Given the description of an element on the screen output the (x, y) to click on. 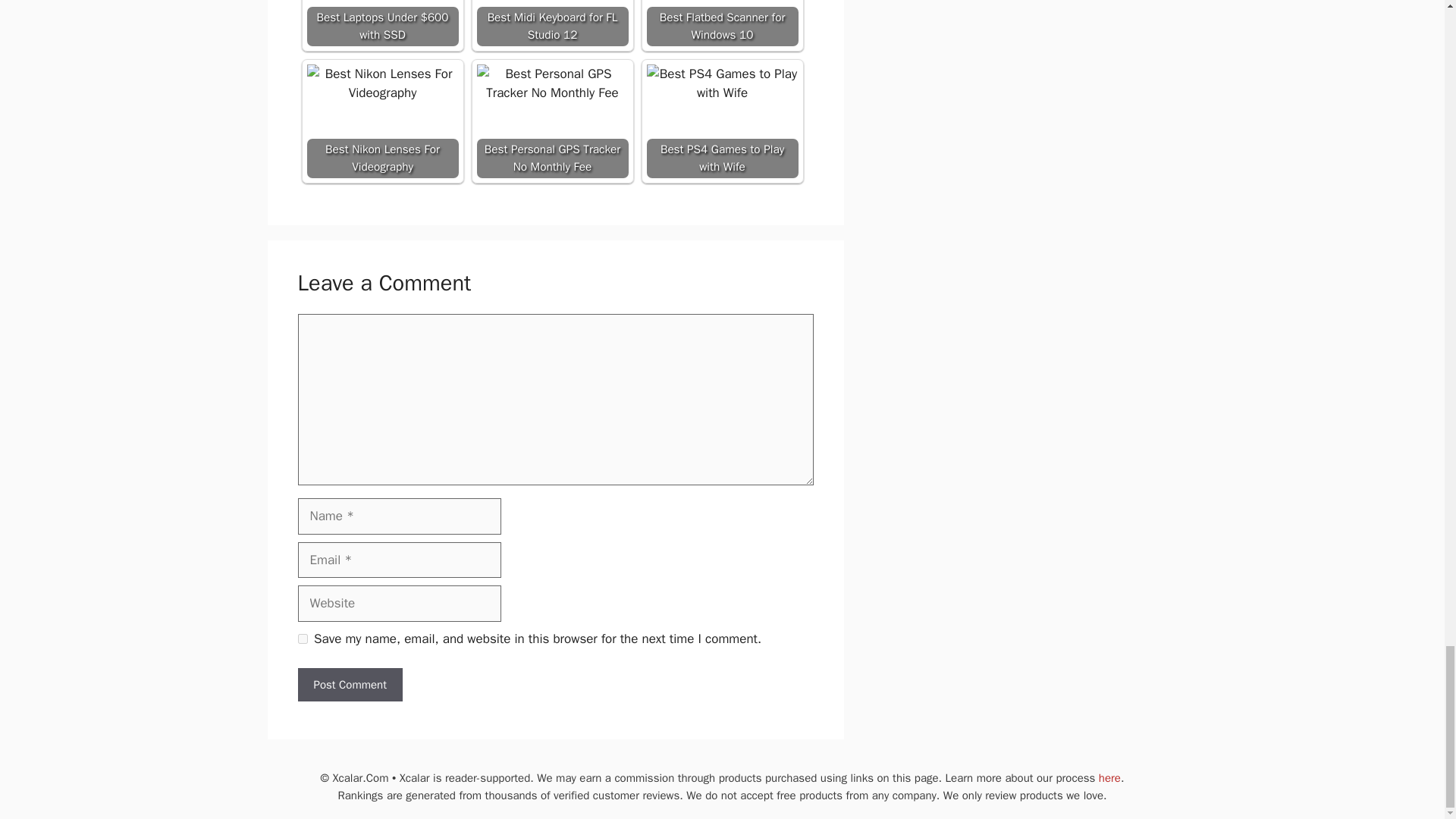
here (1110, 777)
yes (302, 638)
Best PS4 Games to Play with Wife (721, 121)
Best Personal GPS Tracker No Monthly Fee (551, 83)
Best Nikon Lenses For Videography (381, 83)
Post Comment (349, 684)
Best Midi Keyboard for FL Studio 12 (551, 22)
Best Nikon Lenses For Videography (381, 121)
Post Comment (349, 684)
Best PS4 Games to Play with Wife (721, 83)
Best Personal GPS Tracker No Monthly Fee (551, 121)
Best Flatbed Scanner for Windows 10 (721, 22)
